Given the description of an element on the screen output the (x, y) to click on. 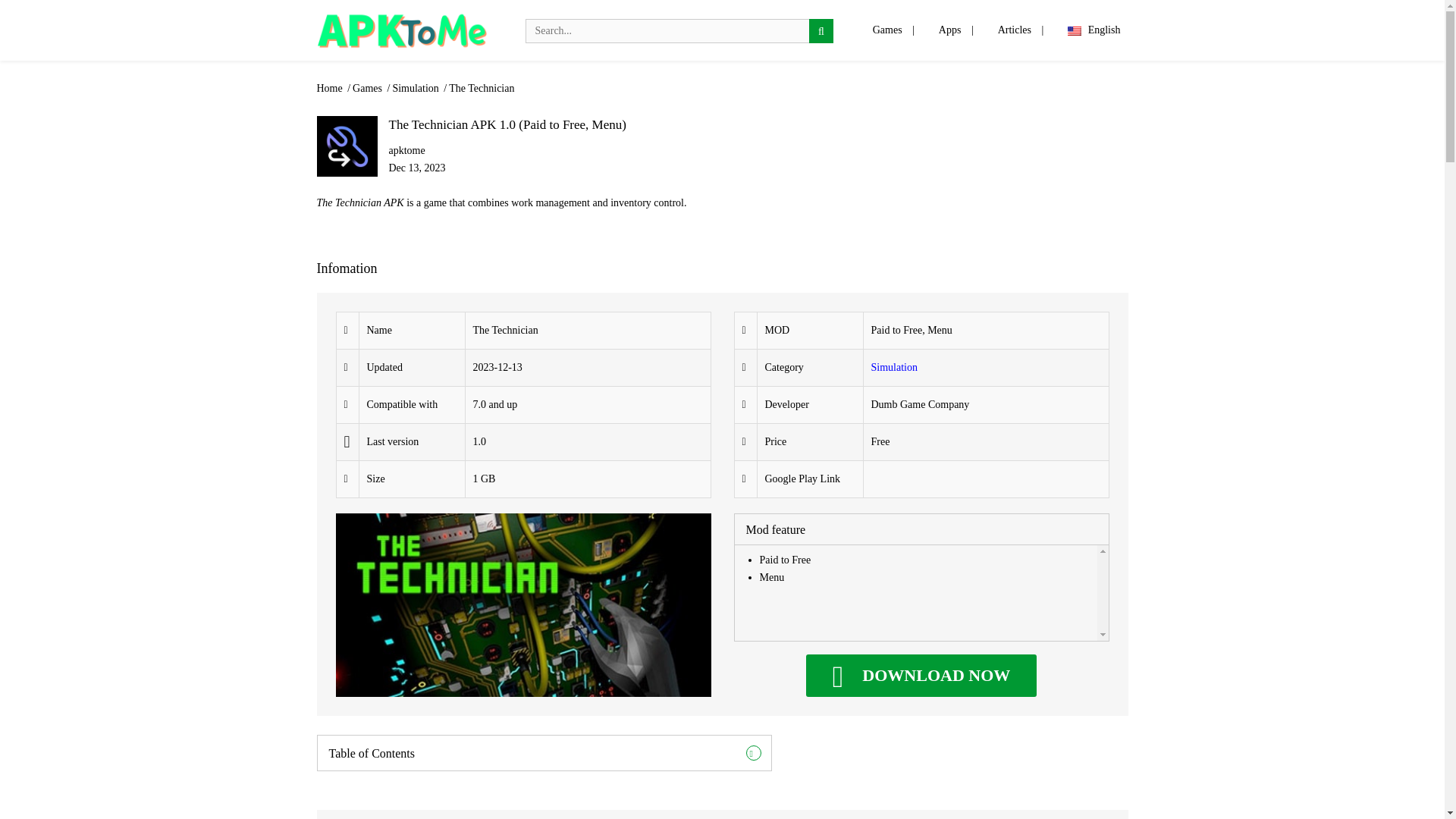
Games (368, 88)
English (1093, 30)
Apps (949, 30)
DOWNLOAD NOW (921, 675)
The Technician (921, 675)
Simulation (416, 88)
Simulation (893, 367)
The Technician (480, 88)
Articles (1015, 30)
Home (331, 88)
Games (887, 30)
